Given the description of an element on the screen output the (x, y) to click on. 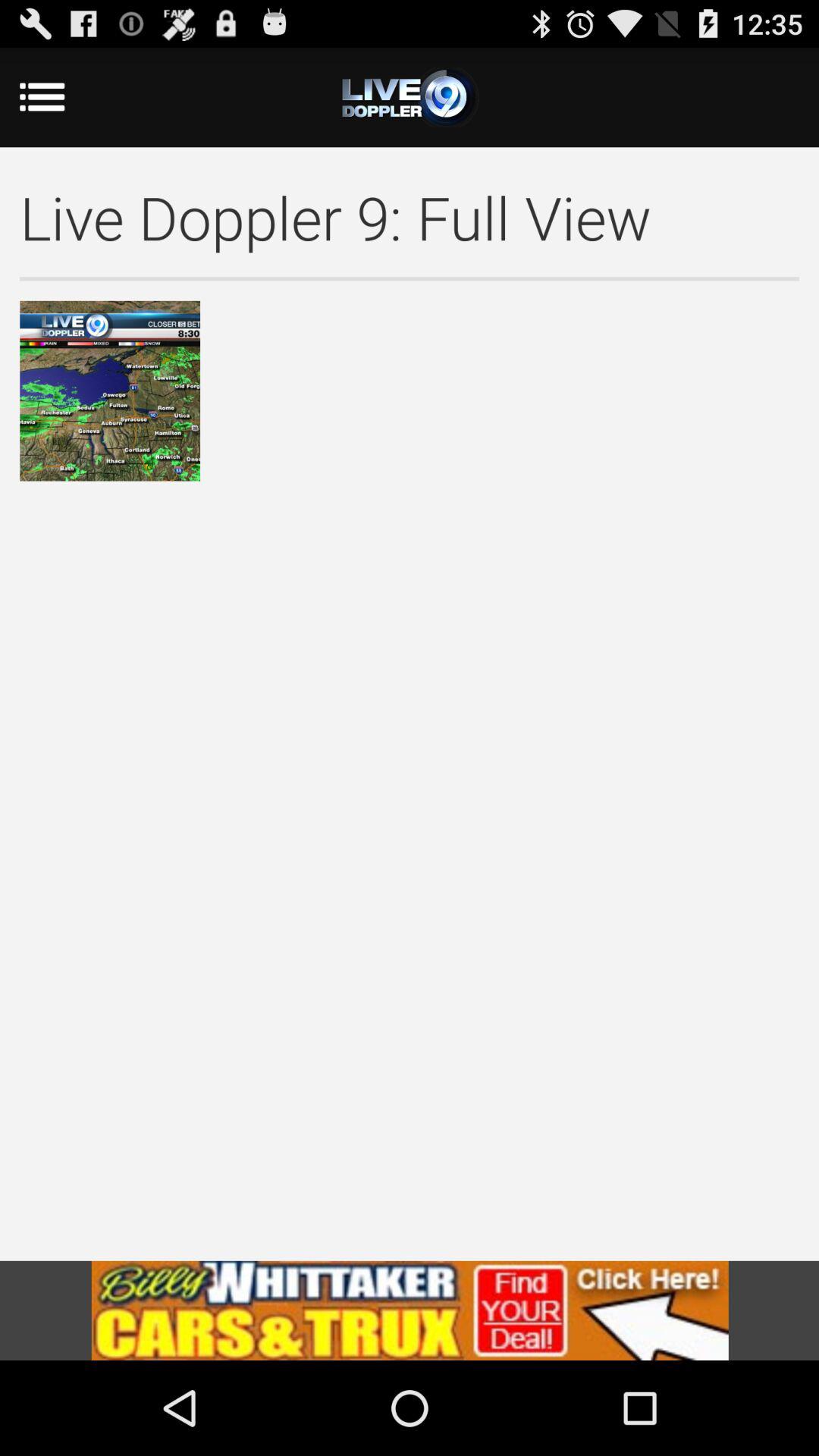
turn on icon above the live doppler 9 item (61, 97)
